Given the description of an element on the screen output the (x, y) to click on. 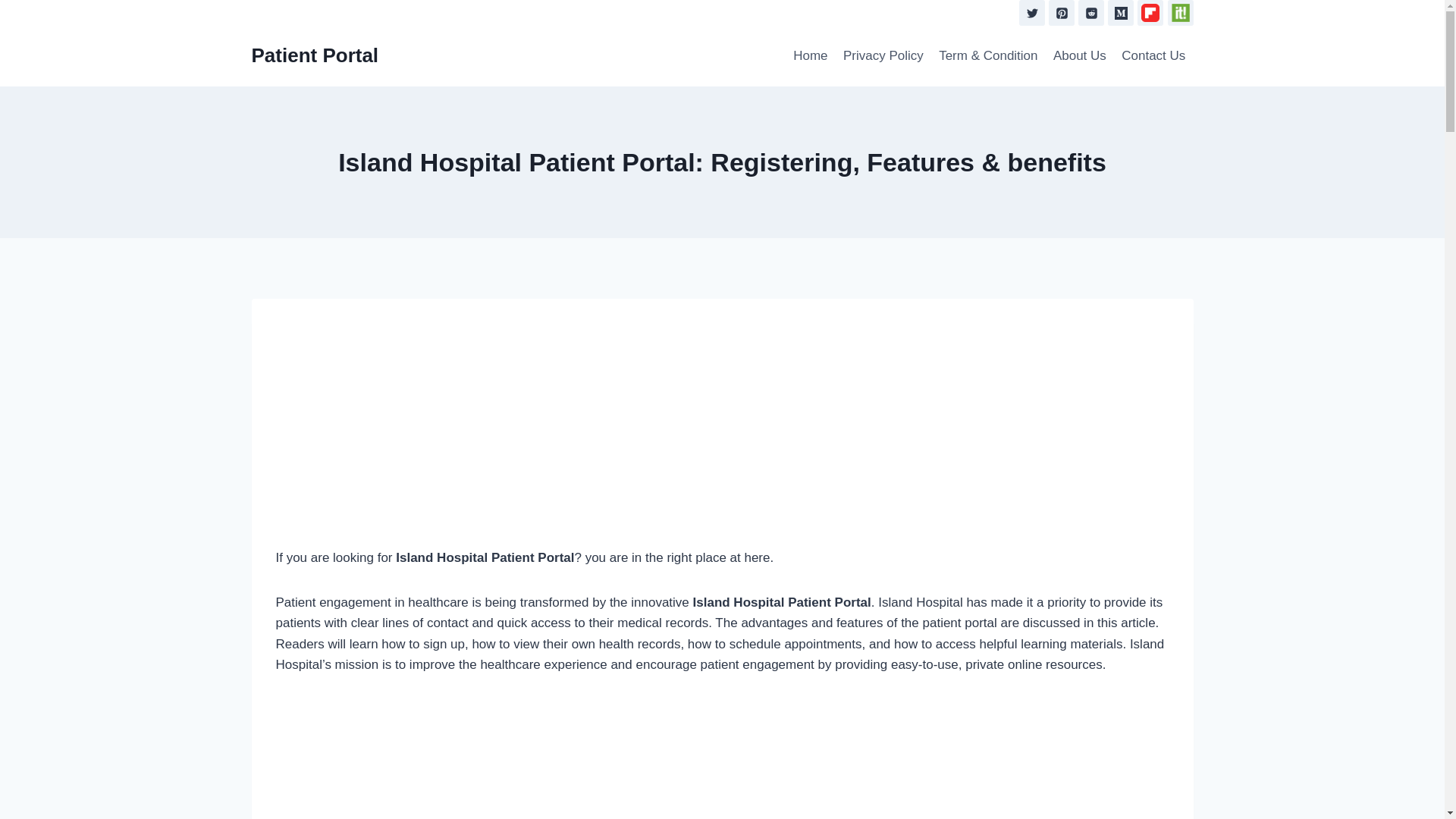
Home (810, 55)
About Us (1079, 55)
Privacy Policy (883, 55)
Contact Us (1152, 55)
Advertisement (722, 759)
Patient Portal (314, 55)
